Given the description of an element on the screen output the (x, y) to click on. 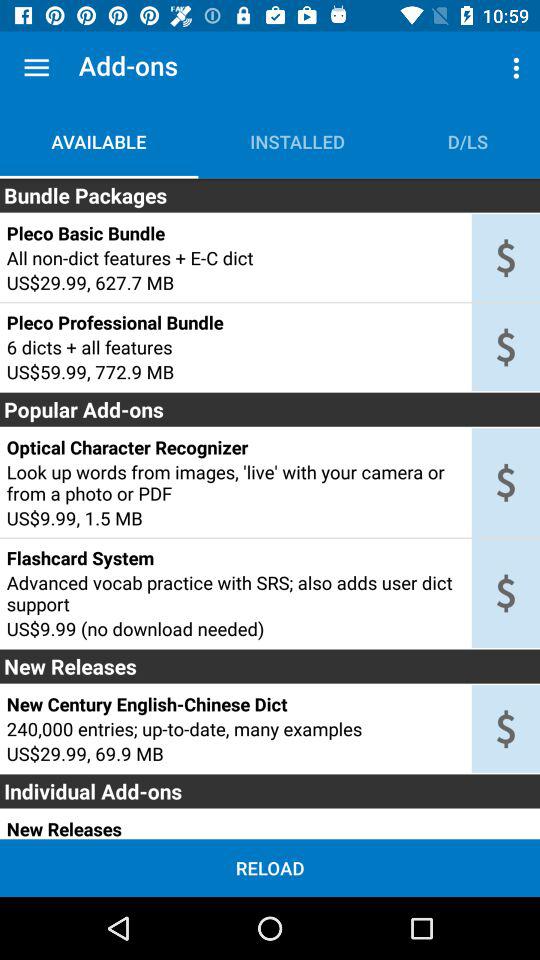
flip to the new century english (235, 703)
